Given the description of an element on the screen output the (x, y) to click on. 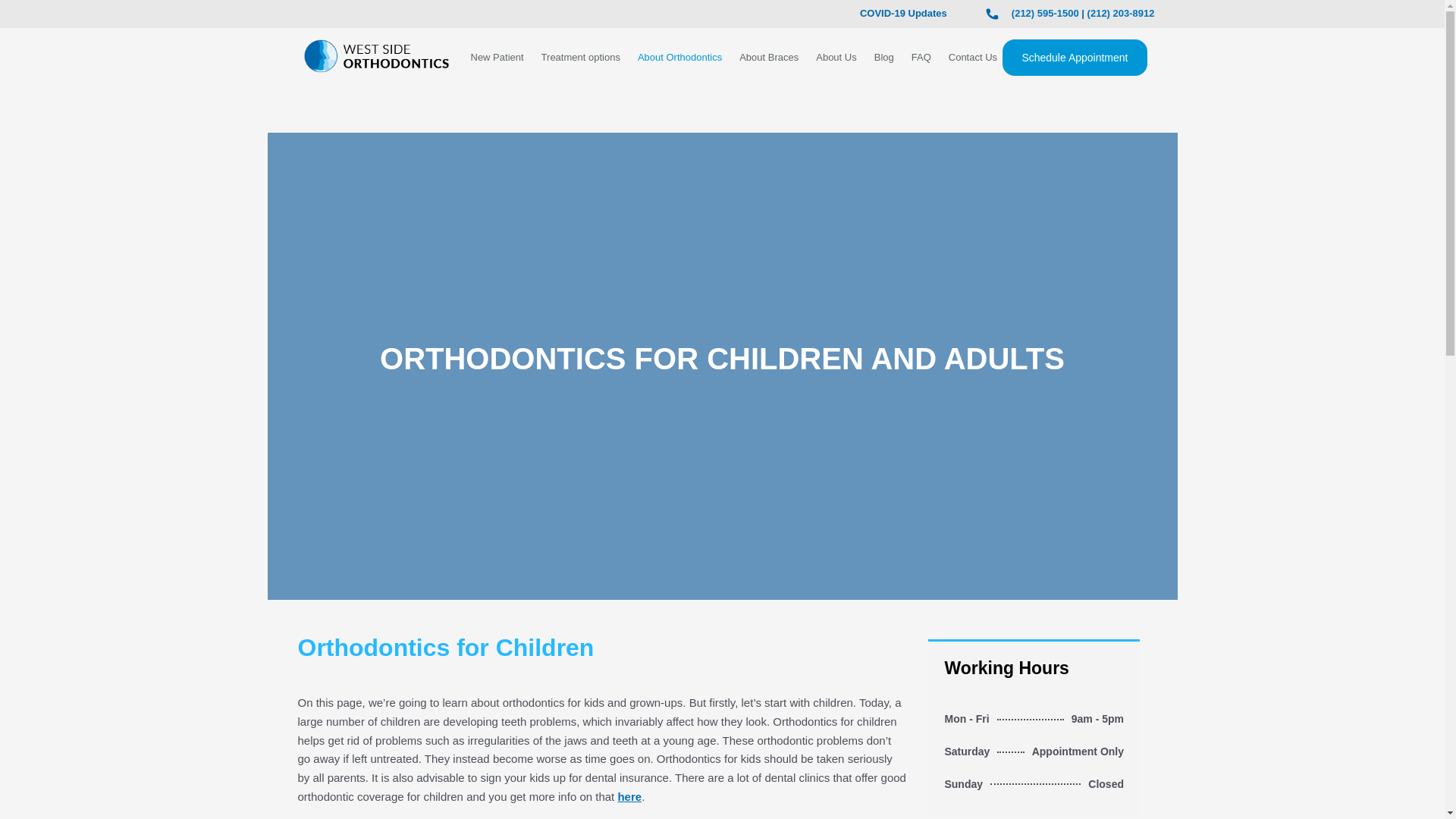
Contact Us (973, 57)
New Patient (496, 57)
Treatment options (580, 57)
About Us (835, 57)
About Braces (768, 57)
COVID-19 Updates (903, 12)
About Orthodontics (679, 57)
